Given the description of an element on the screen output the (x, y) to click on. 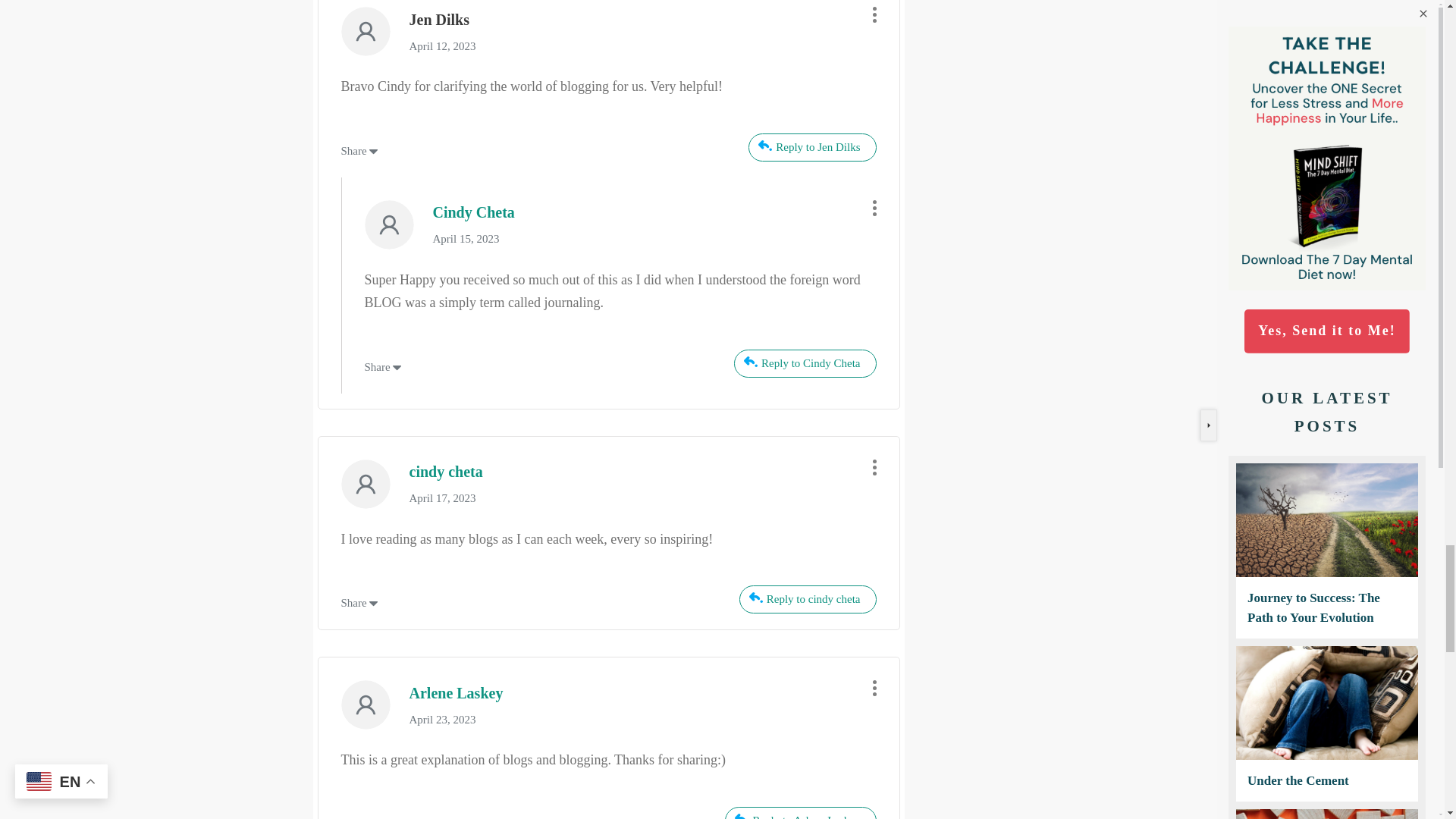
Reply to Jen Dilks (812, 147)
Comment Author Image (365, 483)
Reply to Cindy Cheta (804, 363)
Comment Author Image (365, 704)
Comment Author Image (365, 31)
Comment Author Image (388, 224)
Cindy Cheta (472, 211)
cindy cheta (446, 471)
